Given the description of an element on the screen output the (x, y) to click on. 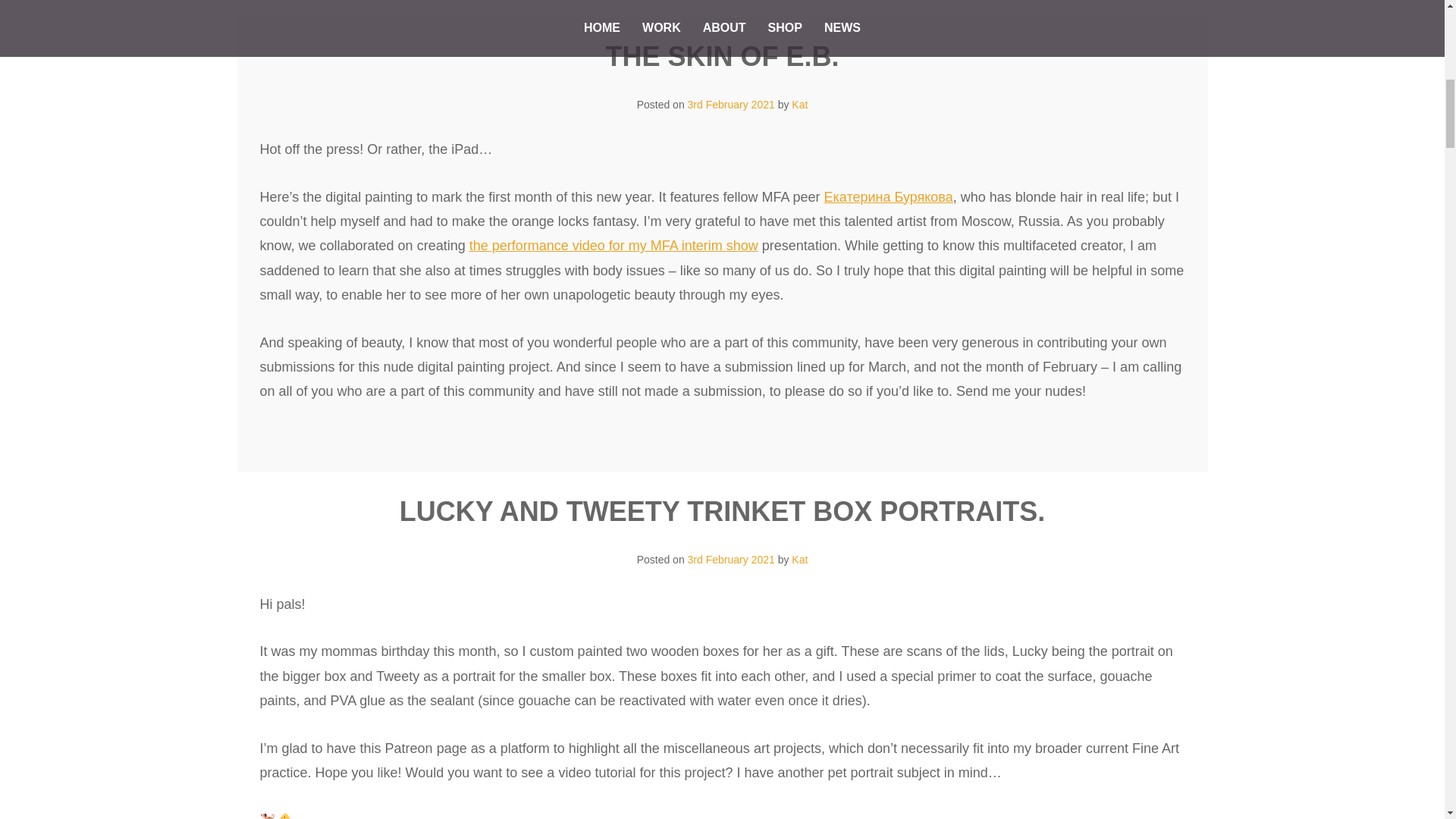
Kat (800, 559)
LUCKY AND TWEETY TRINKET BOX PORTRAITS. (721, 511)
Kat (800, 104)
3rd February 2021 (730, 104)
THE SKIN OF E.B. (721, 56)
the performance video for my MFA interim show (613, 245)
3rd February 2021 (730, 559)
